Given the description of an element on the screen output the (x, y) to click on. 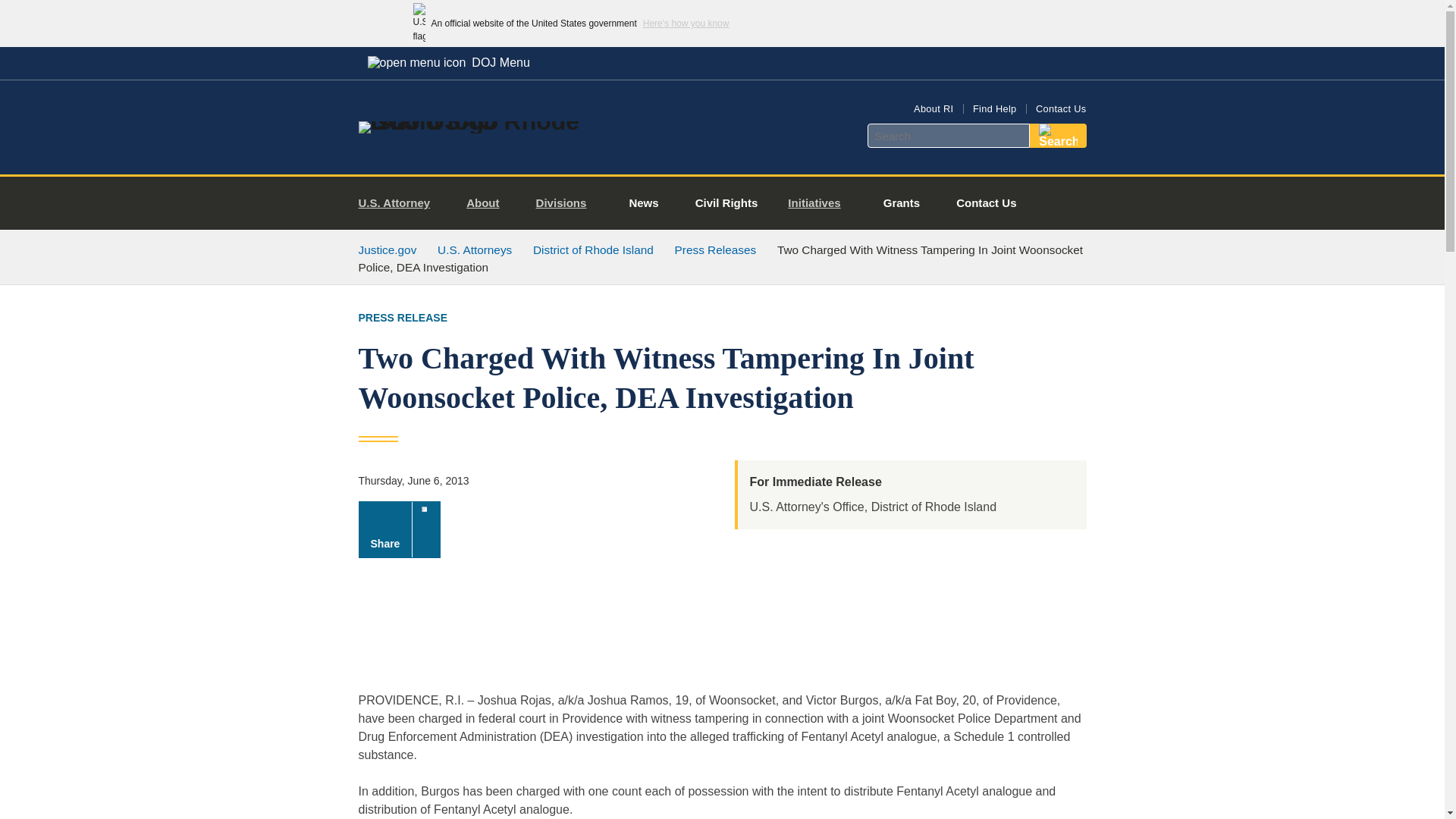
About (488, 203)
Here's how you know (686, 23)
Home (481, 121)
Justice.gov (387, 249)
U.S. Attorney (400, 203)
Grants (900, 203)
District of Rhode Island (592, 249)
Civil Rights (726, 203)
Find Help (994, 108)
About RI (933, 108)
Contact Us (985, 203)
News (643, 203)
DOJ Menu (448, 62)
U.S. Attorneys (475, 249)
Divisions (567, 203)
